Given the description of an element on the screen output the (x, y) to click on. 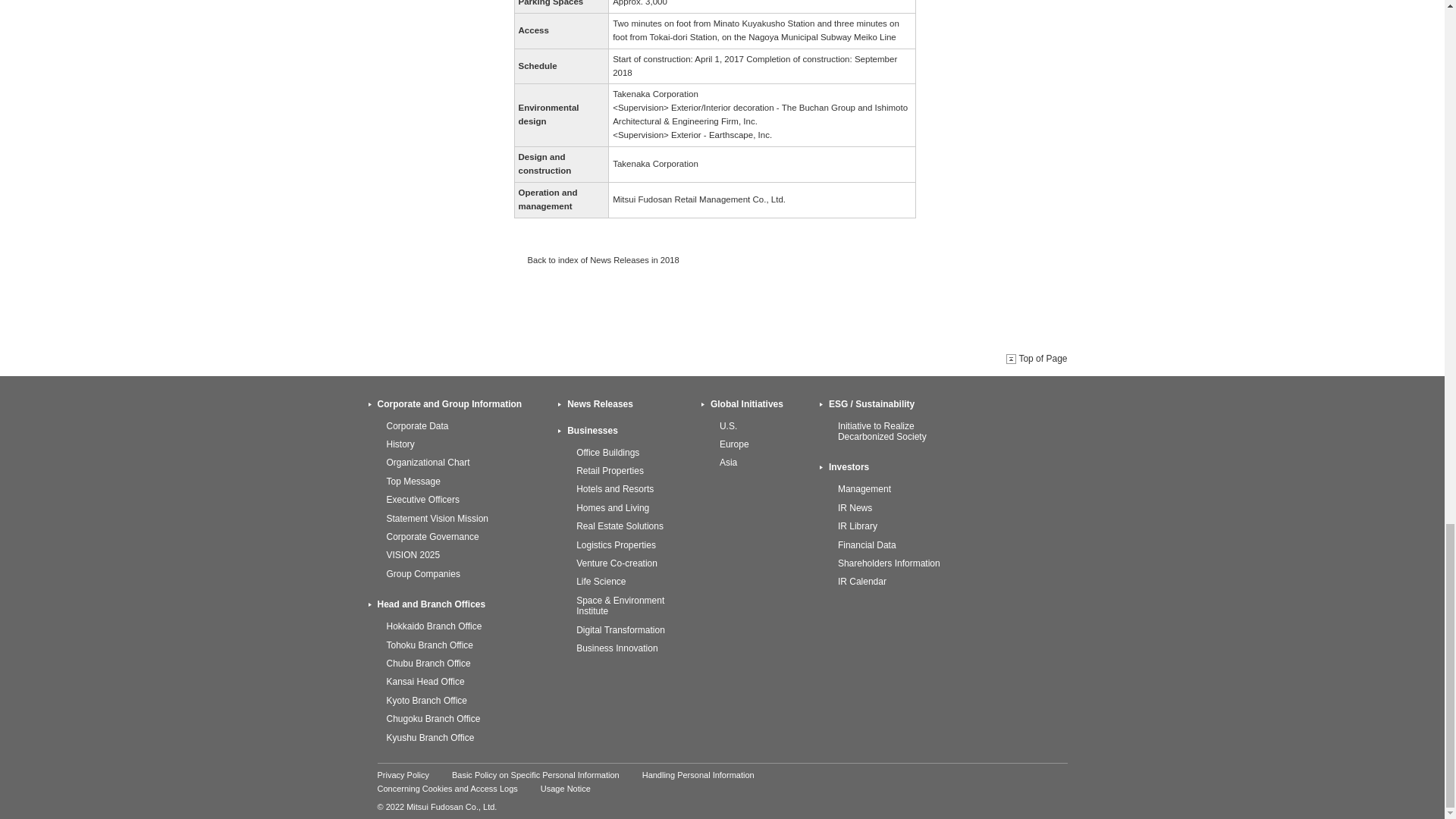
Top of Page (1036, 358)
